Given the description of an element on the screen output the (x, y) to click on. 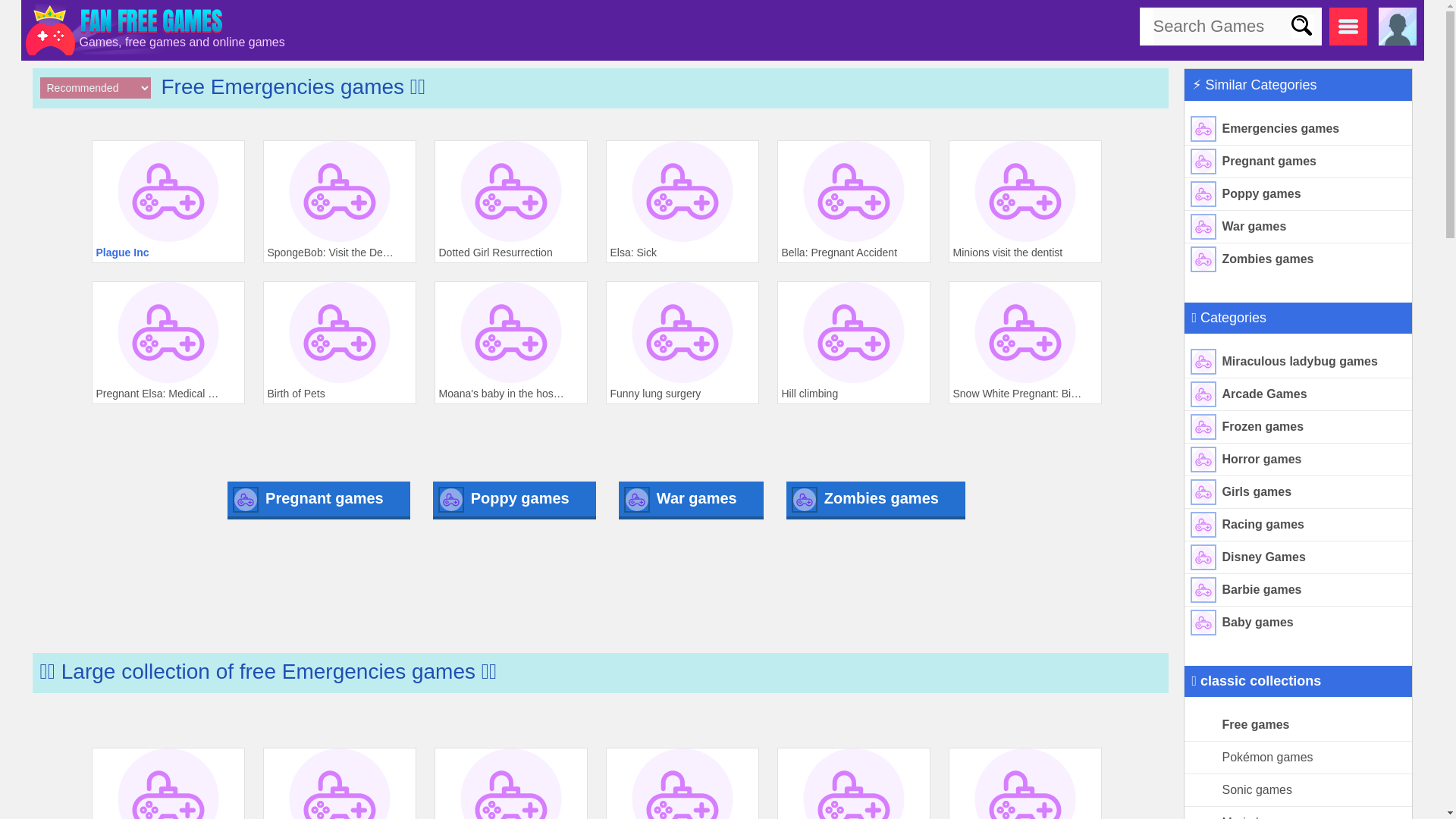
Free Poppy games, Poppy Playtime (1298, 194)
Free Mario bros games, Nintendo's Mario Bros. (1298, 812)
Sonic games (1298, 789)
Pregnant games (1298, 161)
Free Sonic games, Sonic the hedgehog (1298, 789)
Zombies games (1298, 259)
Girls games (1298, 491)
Free Emergencies games, Emergencies 911 (1298, 129)
Baby games (1298, 622)
Disney Games (1298, 557)
Dotted Girl Resurrection (509, 201)
Mario bros games (1298, 812)
Free Zombies games, Living Dead (1298, 259)
Emergencies games (1298, 129)
